Given the description of an element on the screen output the (x, y) to click on. 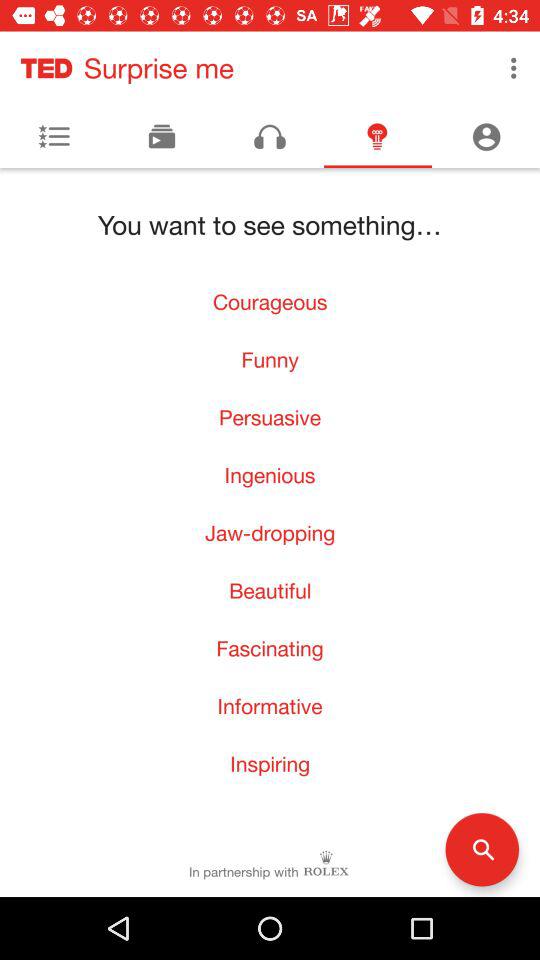
jump to the funny item (270, 359)
